Given the description of an element on the screen output the (x, y) to click on. 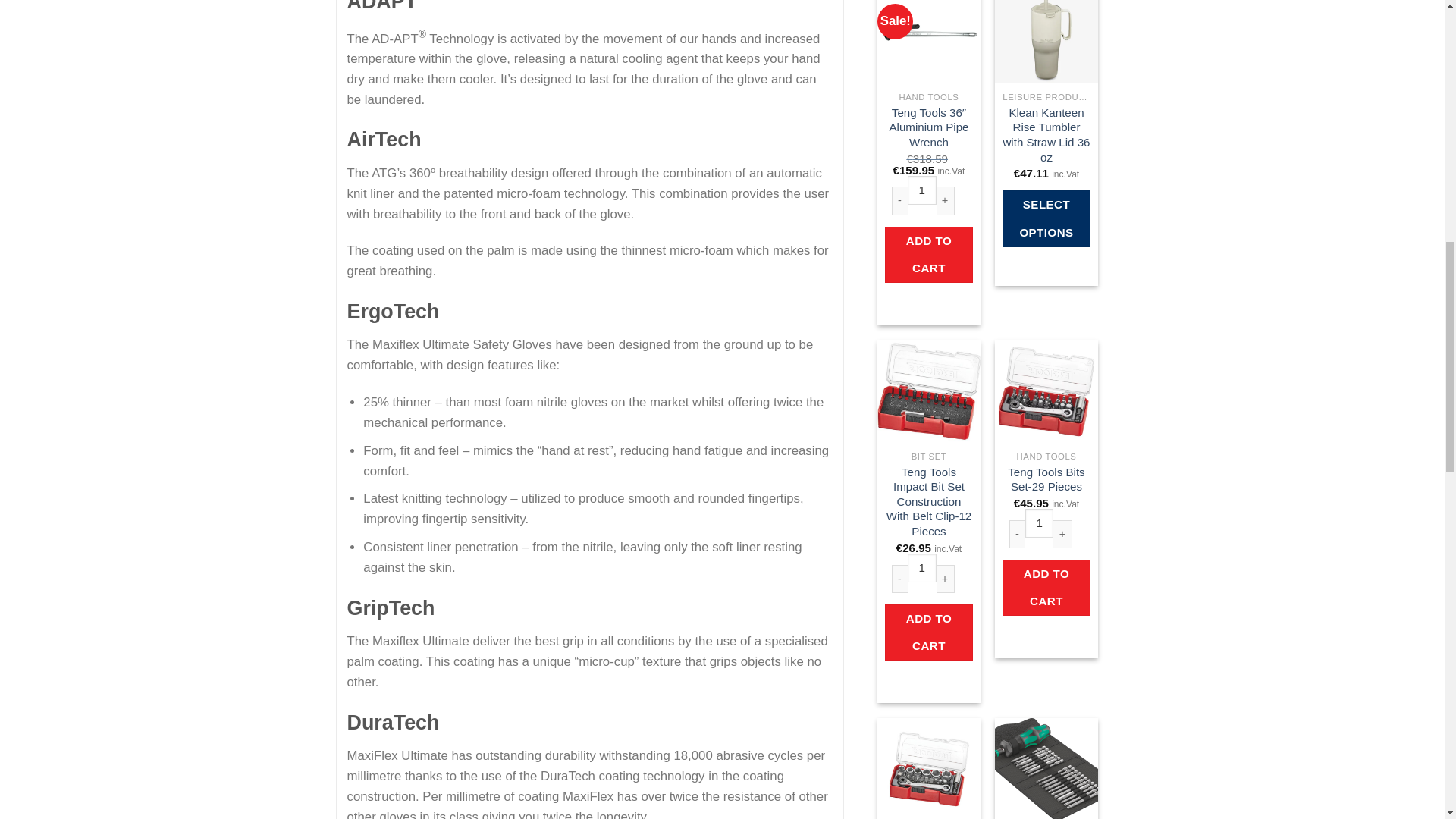
1 (921, 190)
1 (921, 567)
1 (1039, 522)
